Given the description of an element on the screen output the (x, y) to click on. 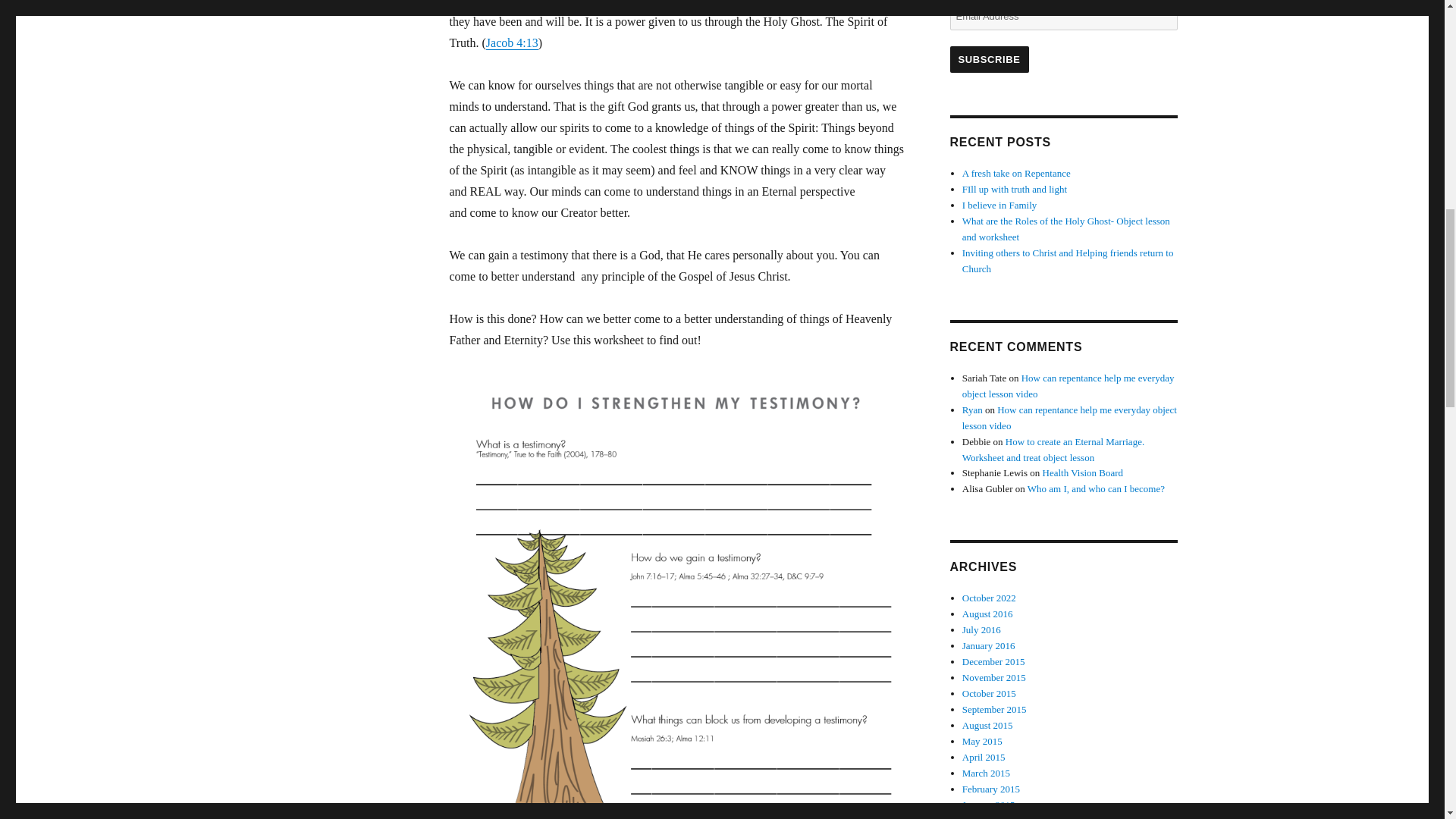
A fresh take on Repentance (1016, 173)
Jacob 4:13 (512, 42)
FIll up with truth and light (1014, 188)
SUBSCRIBE (988, 58)
